Given the description of an element on the screen output the (x, y) to click on. 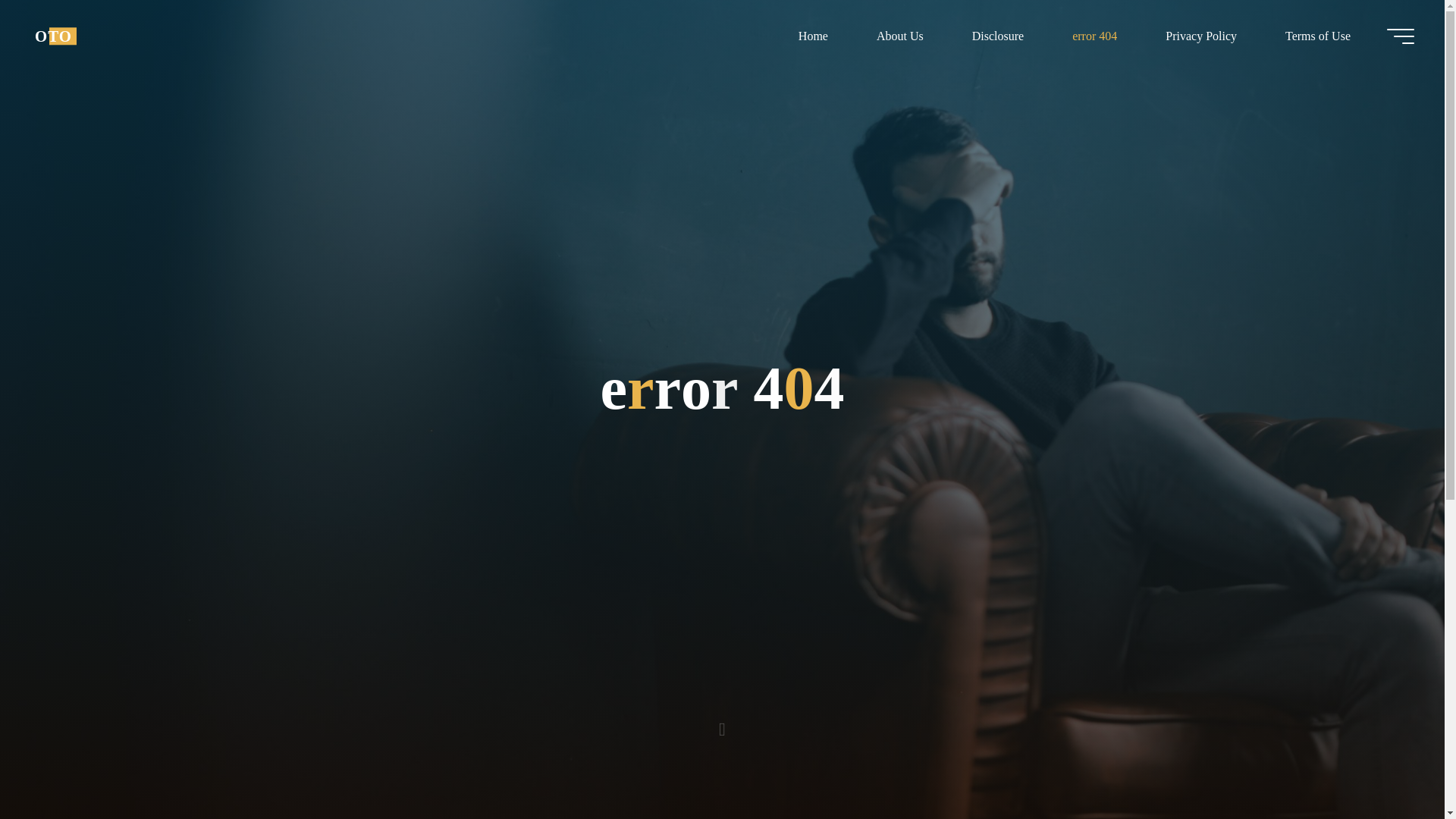
OTO (53, 36)
About Us (899, 35)
Privacy Policy (1200, 35)
error 404 (1094, 35)
Home (812, 35)
Terms of Use (1317, 35)
Disclosure (997, 35)
Read more (721, 724)
